Given the description of an element on the screen output the (x, y) to click on. 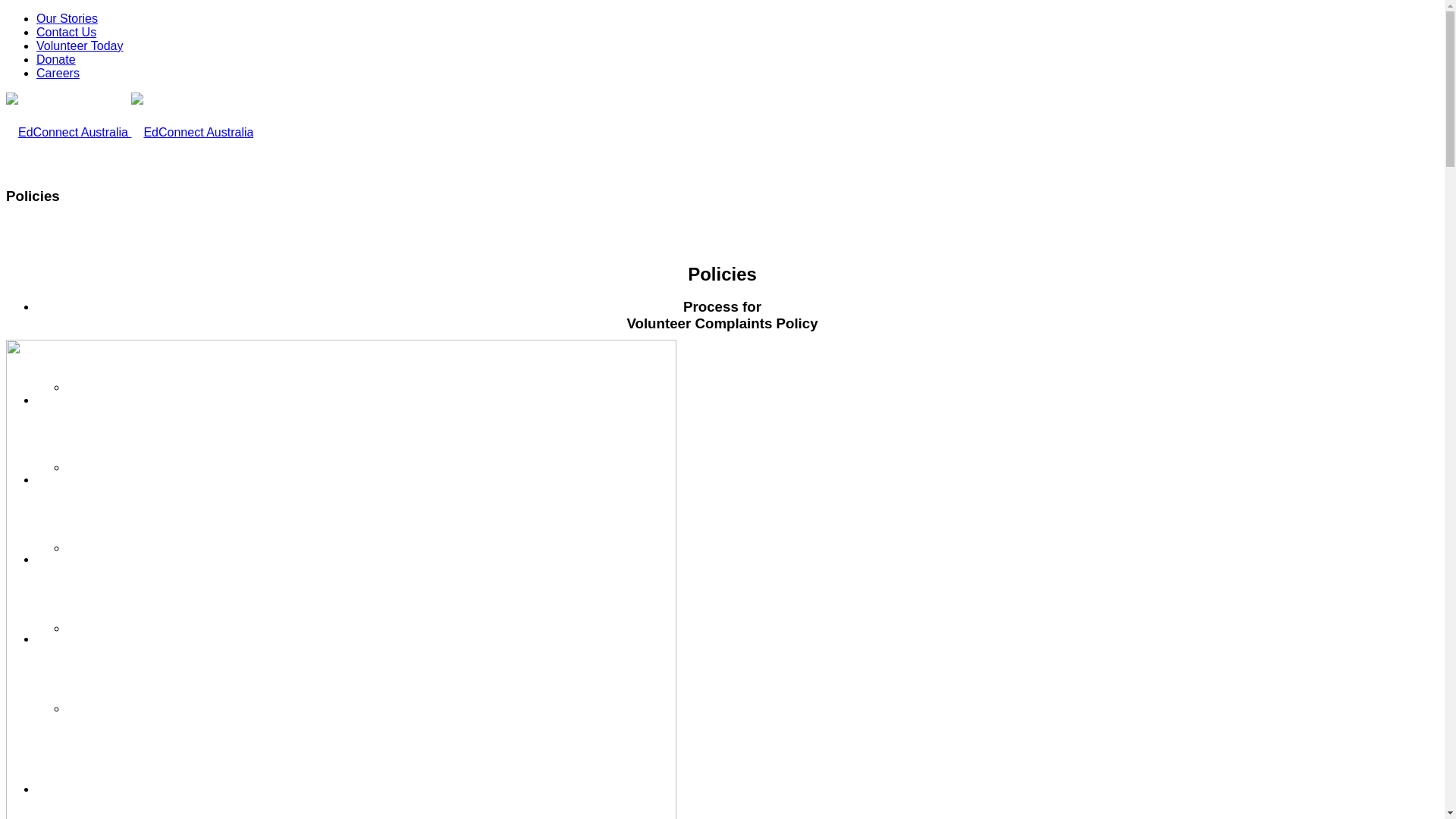
Reports Element type: text (83, 628)
Volunteer Today Element type: text (79, 45)
Our Partner Programs Element type: text (114, 548)
Our Work Element type: text (57, 307)
What We Do Element type: text (93, 387)
Our Team Element type: text (57, 789)
History Element type: text (81, 709)
Our Impact Element type: text (90, 467)
Careers Element type: text (57, 72)
Donate Element type: text (55, 59)
Our Stories Element type: text (66, 18)
Contact Us Element type: text (66, 31)
